Given the description of an element on the screen output the (x, y) to click on. 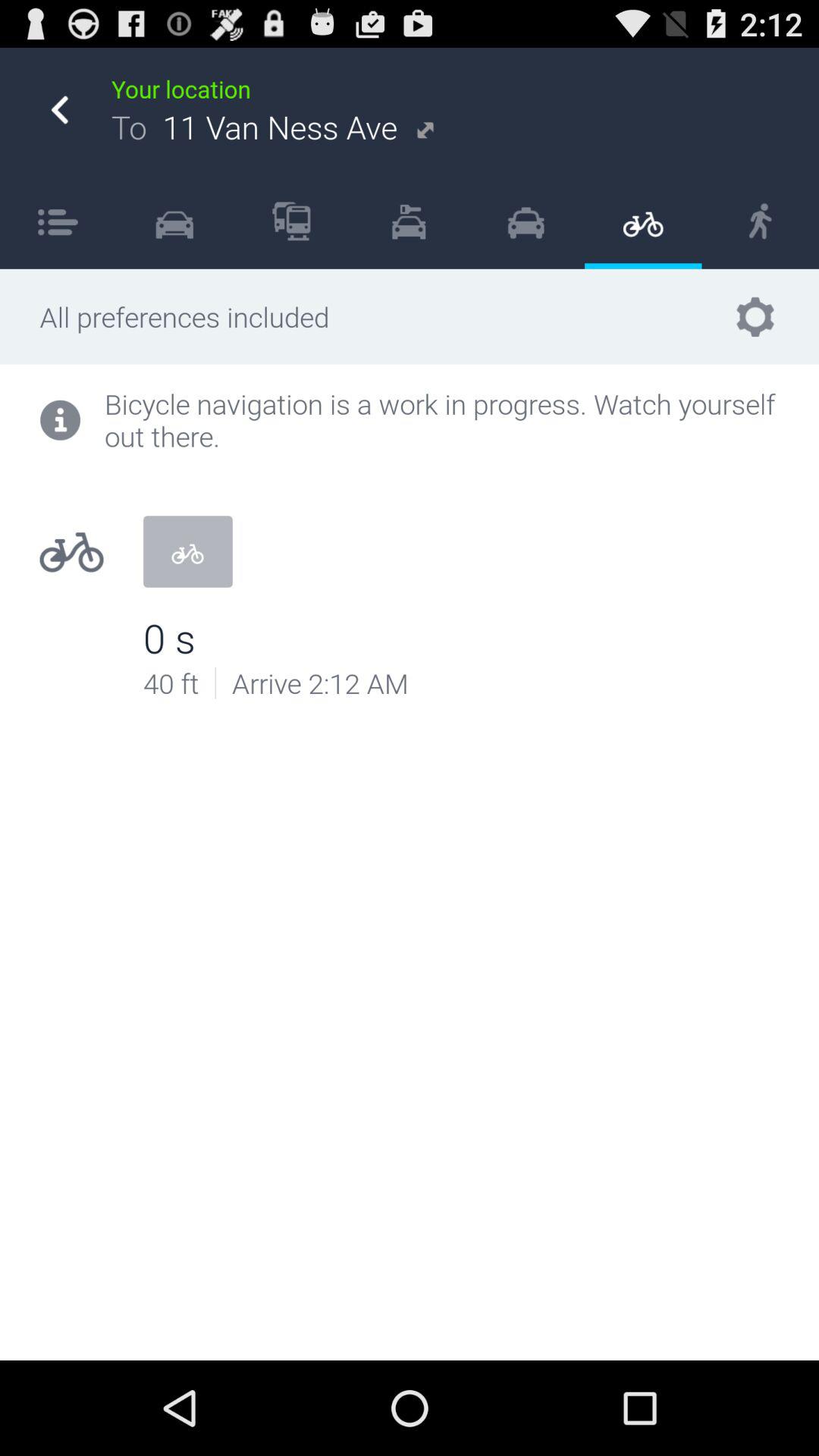
select item below your location item (760, 221)
